Given the description of an element on the screen output the (x, y) to click on. 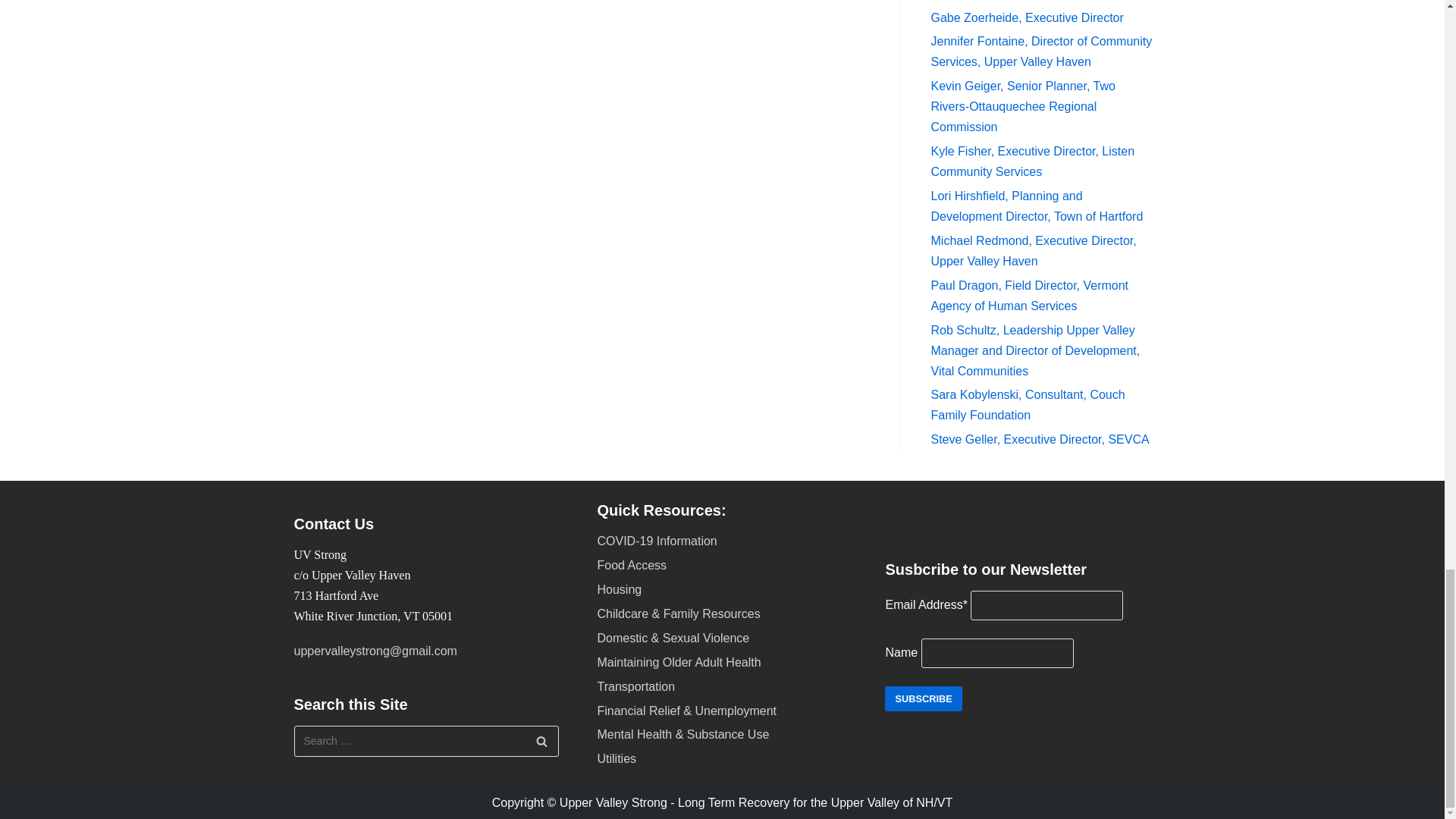
Search (541, 740)
Search (541, 740)
Subscribe (922, 698)
